Given the description of an element on the screen output the (x, y) to click on. 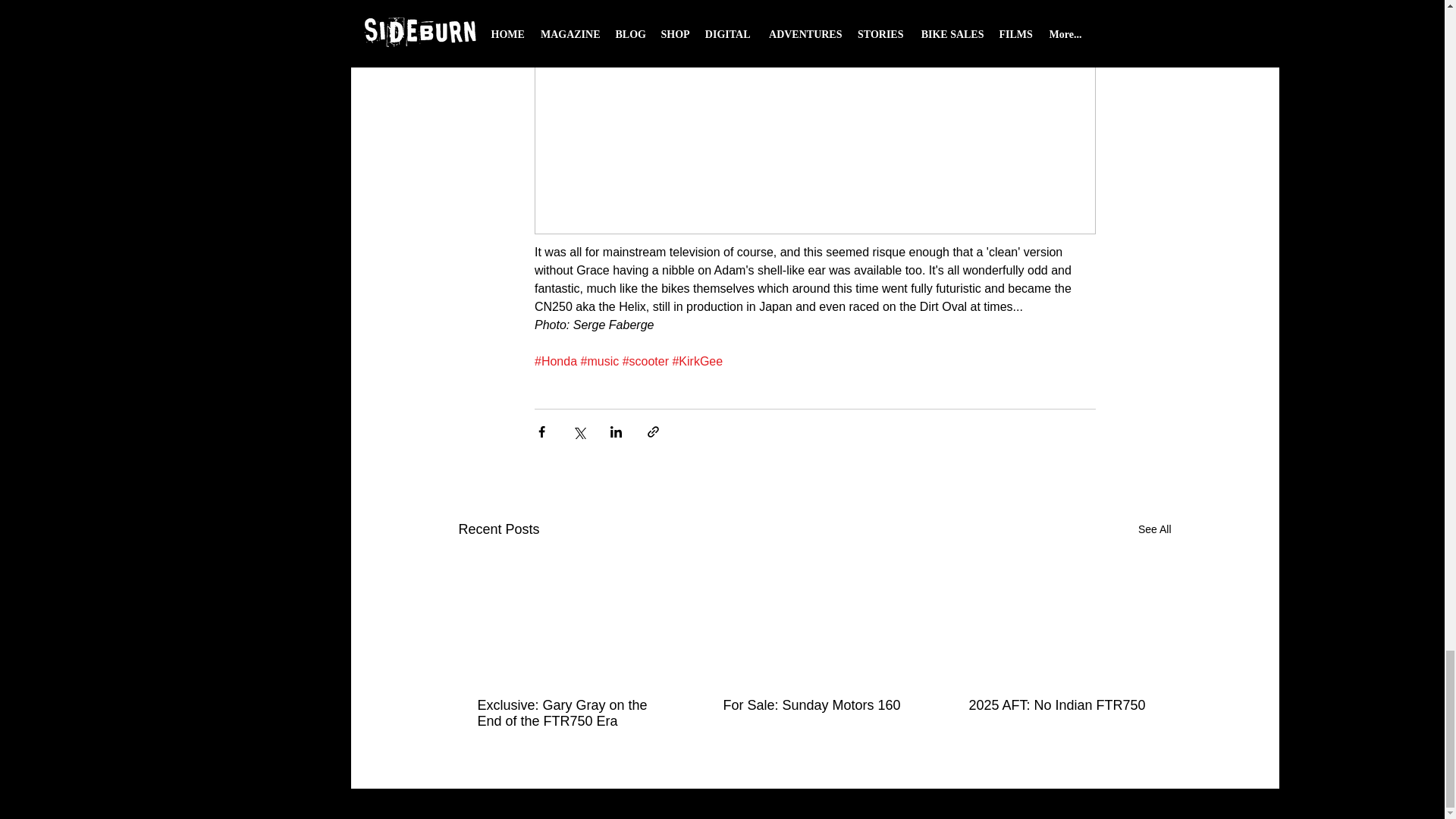
For Sale: Sunday Motors 160 (814, 705)
See All (1155, 529)
Exclusive: Gary Gray on the End of the FTR750 Era (568, 713)
2025 AFT: No Indian FTR750 (1060, 705)
